Given the description of an element on the screen output the (x, y) to click on. 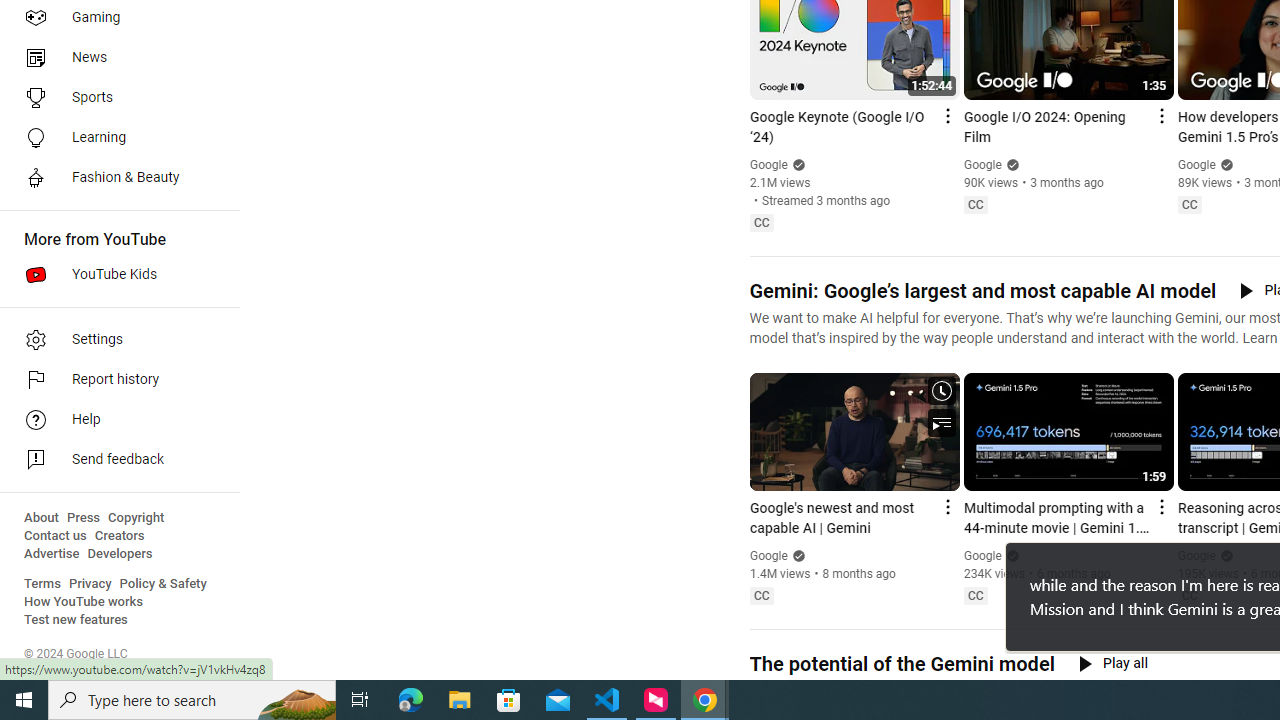
Sports (113, 97)
YouTube Kids (113, 274)
Test new features (76, 620)
How YouTube works (83, 602)
News (113, 57)
Policy & Safety (163, 584)
Press (83, 518)
Contact us (55, 536)
Advertise (51, 554)
Closed captions (1189, 595)
